Given the description of an element on the screen output the (x, y) to click on. 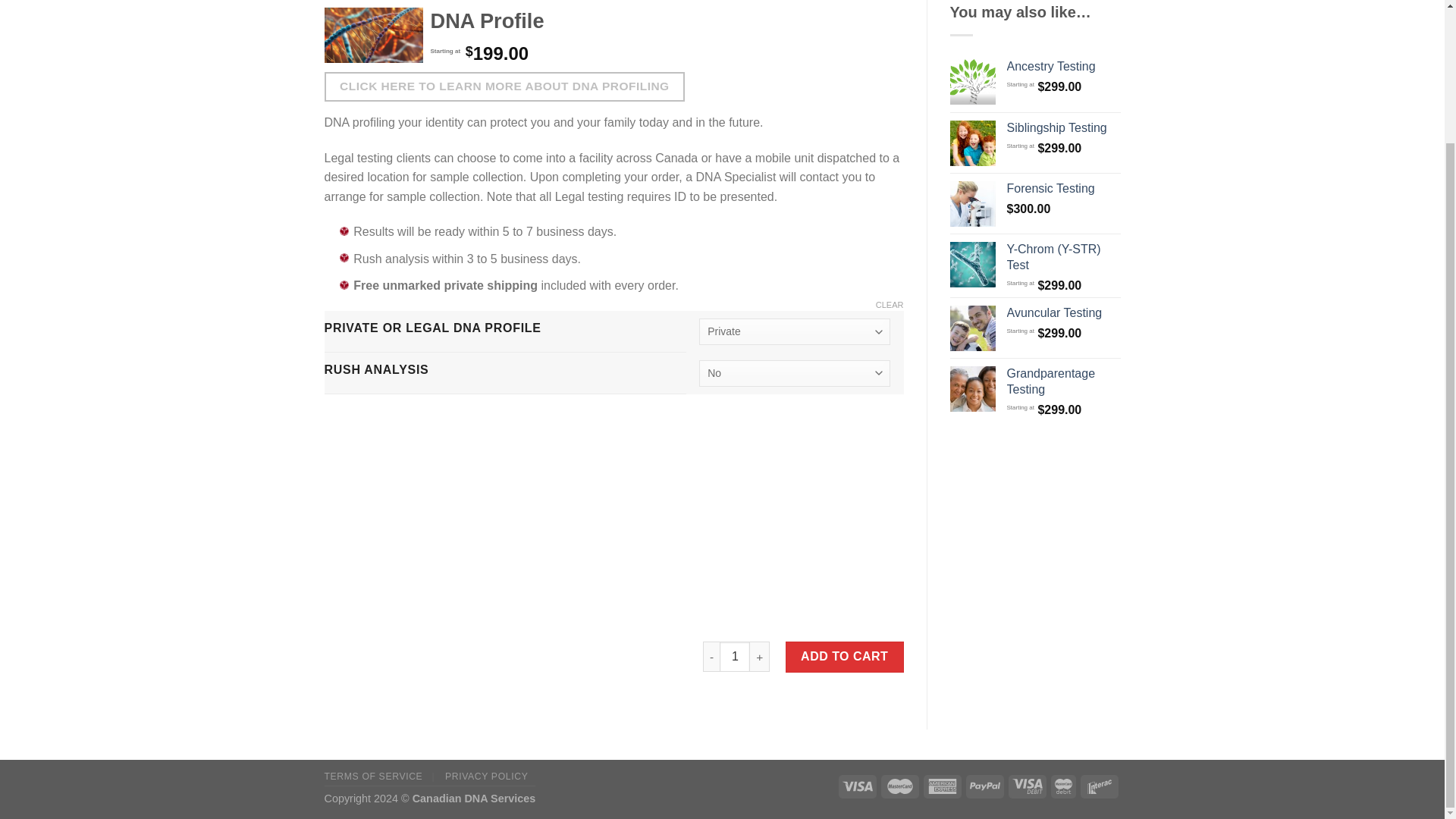
Siblingship Testing (1064, 128)
Qty (734, 656)
Ancestry Testing (1064, 66)
Ancestry Testing (1064, 66)
CLEAR (890, 306)
ADD TO CART (845, 656)
Forensic Testing (1064, 188)
Avuncular Testing (1064, 313)
Siblingship Testing (1064, 128)
1 (734, 656)
